Given the description of an element on the screen output the (x, y) to click on. 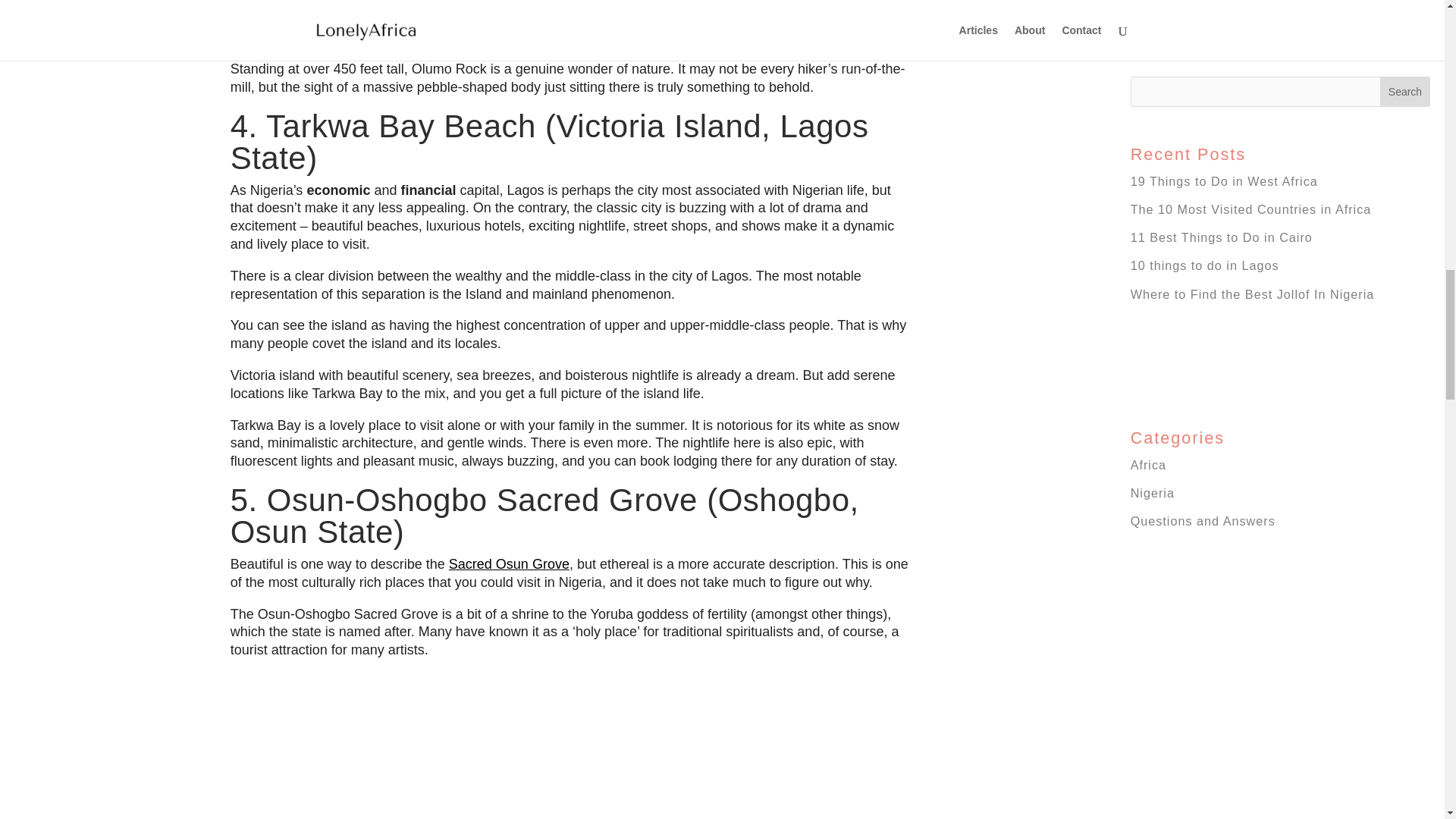
Advertisement (573, 746)
The Most Beautiful and Indigenous Tribes In Nigeria (400, 32)
Sacred Osun Grove (508, 563)
